Given the description of an element on the screen output the (x, y) to click on. 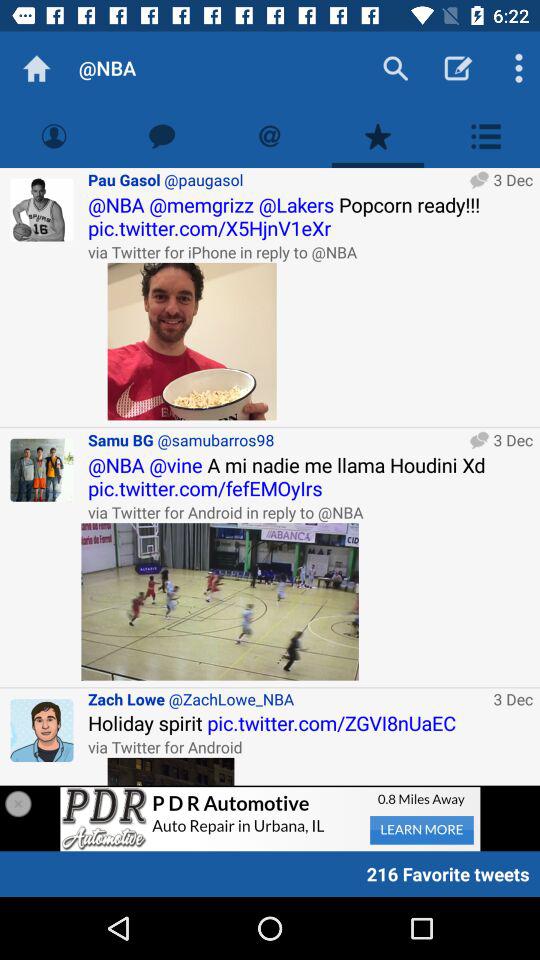
add profile picture (41, 730)
